Given the description of an element on the screen output the (x, y) to click on. 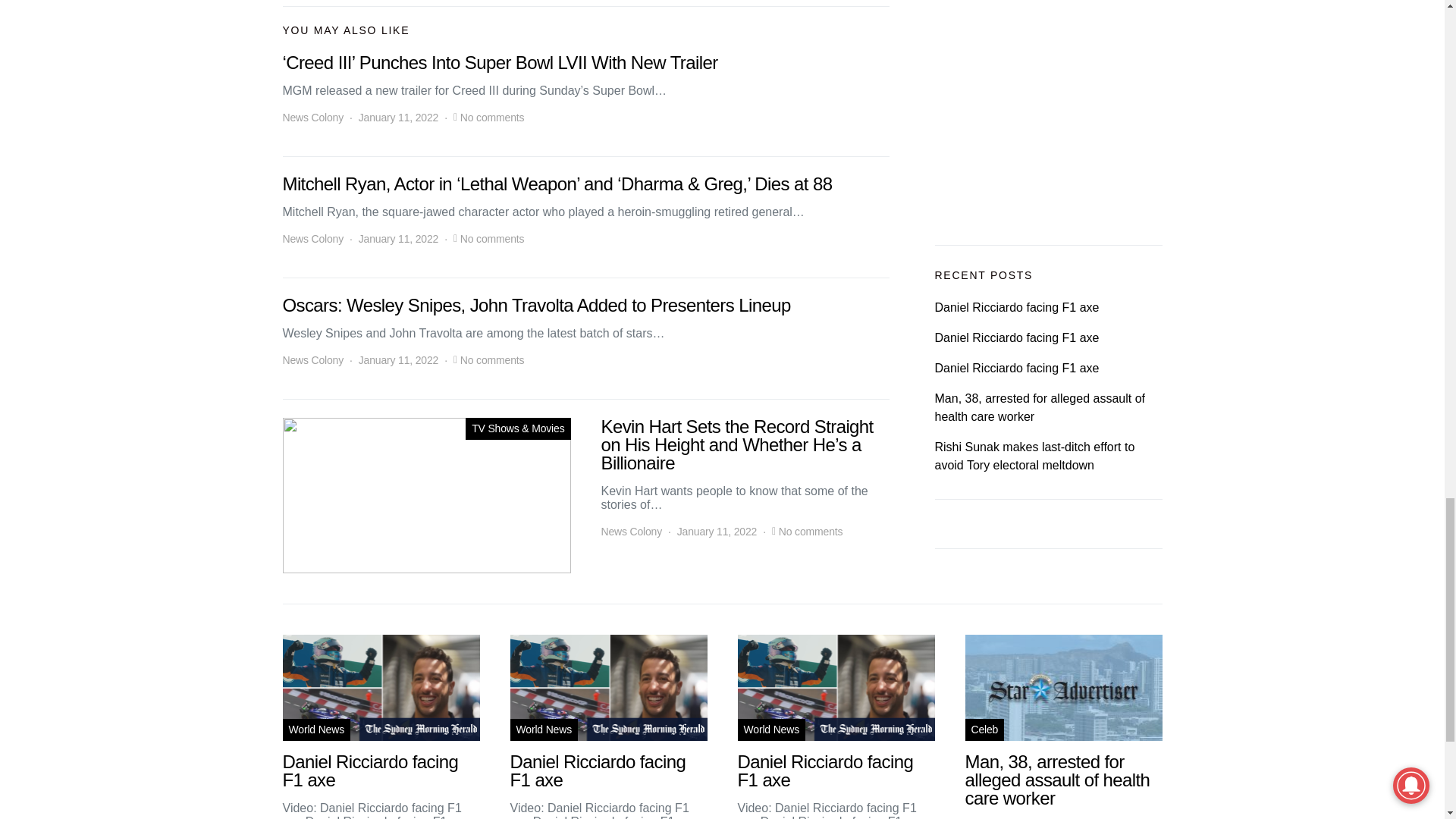
View all posts by News Colony (630, 531)
No comments (492, 238)
View all posts by News Colony (312, 238)
No comments (492, 117)
News Colony (312, 238)
View all posts by News Colony (312, 117)
News Colony (312, 117)
View all posts by News Colony (312, 360)
